Given the description of an element on the screen output the (x, y) to click on. 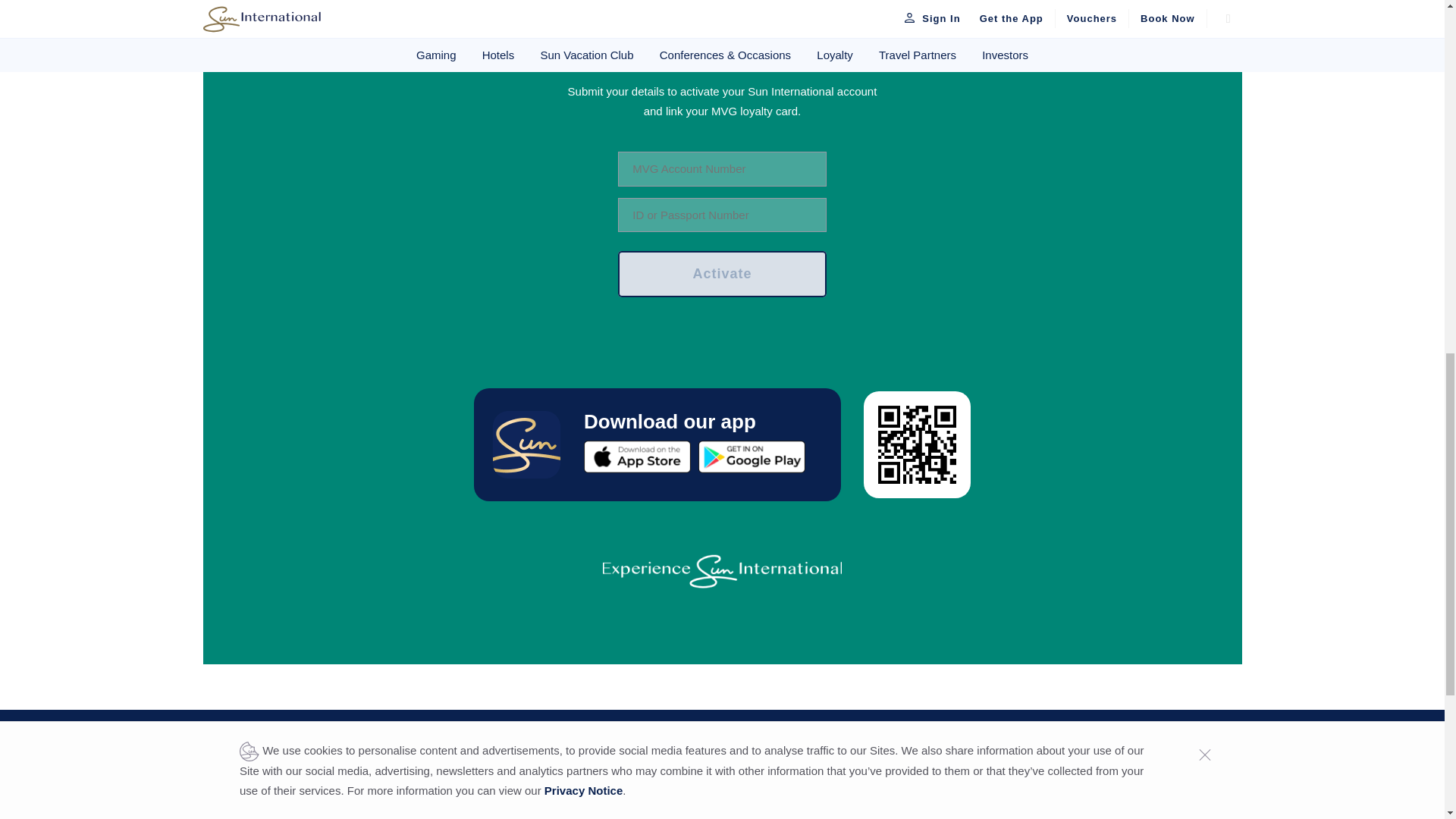
About Us (506, 812)
Best Rate Guarantee (827, 812)
Sun International (292, 750)
